Given the description of an element on the screen output the (x, y) to click on. 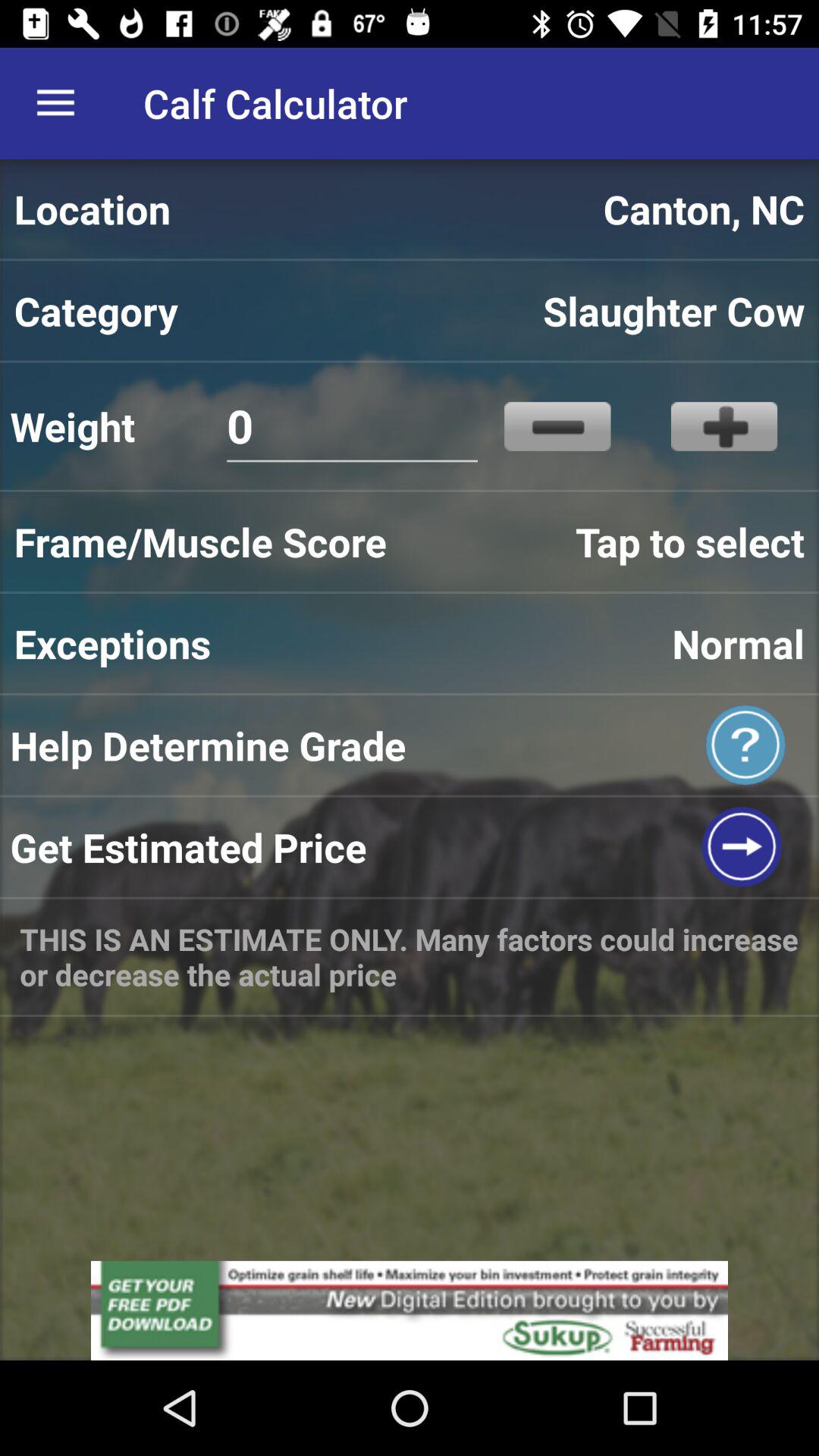
open advertisement (409, 1310)
